Given the description of an element on the screen output the (x, y) to click on. 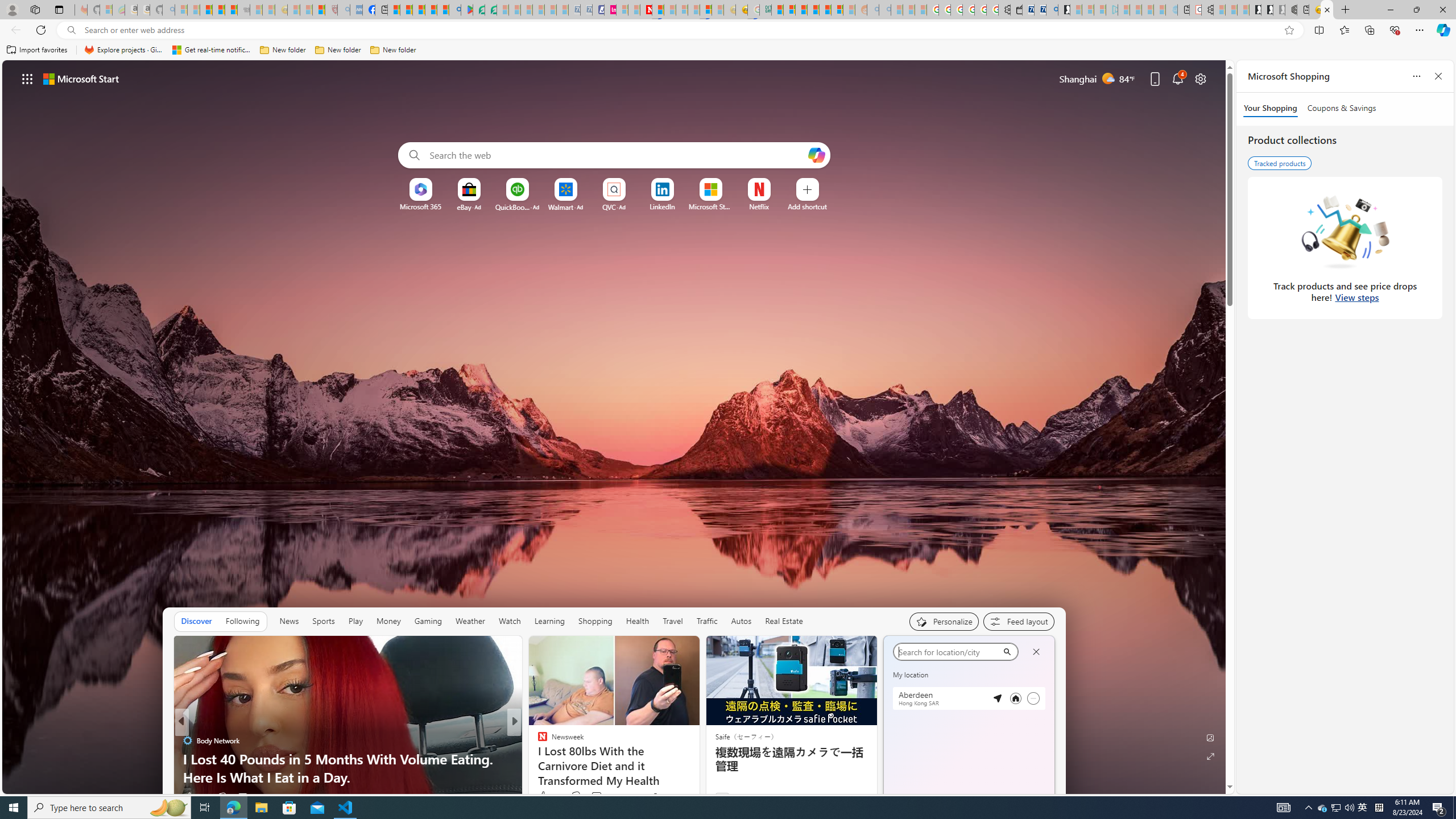
Kinda Frugal - MSN (824, 9)
INSIDER (537, 740)
Rain showers (1030, 742)
